Given the description of an element on the screen output the (x, y) to click on. 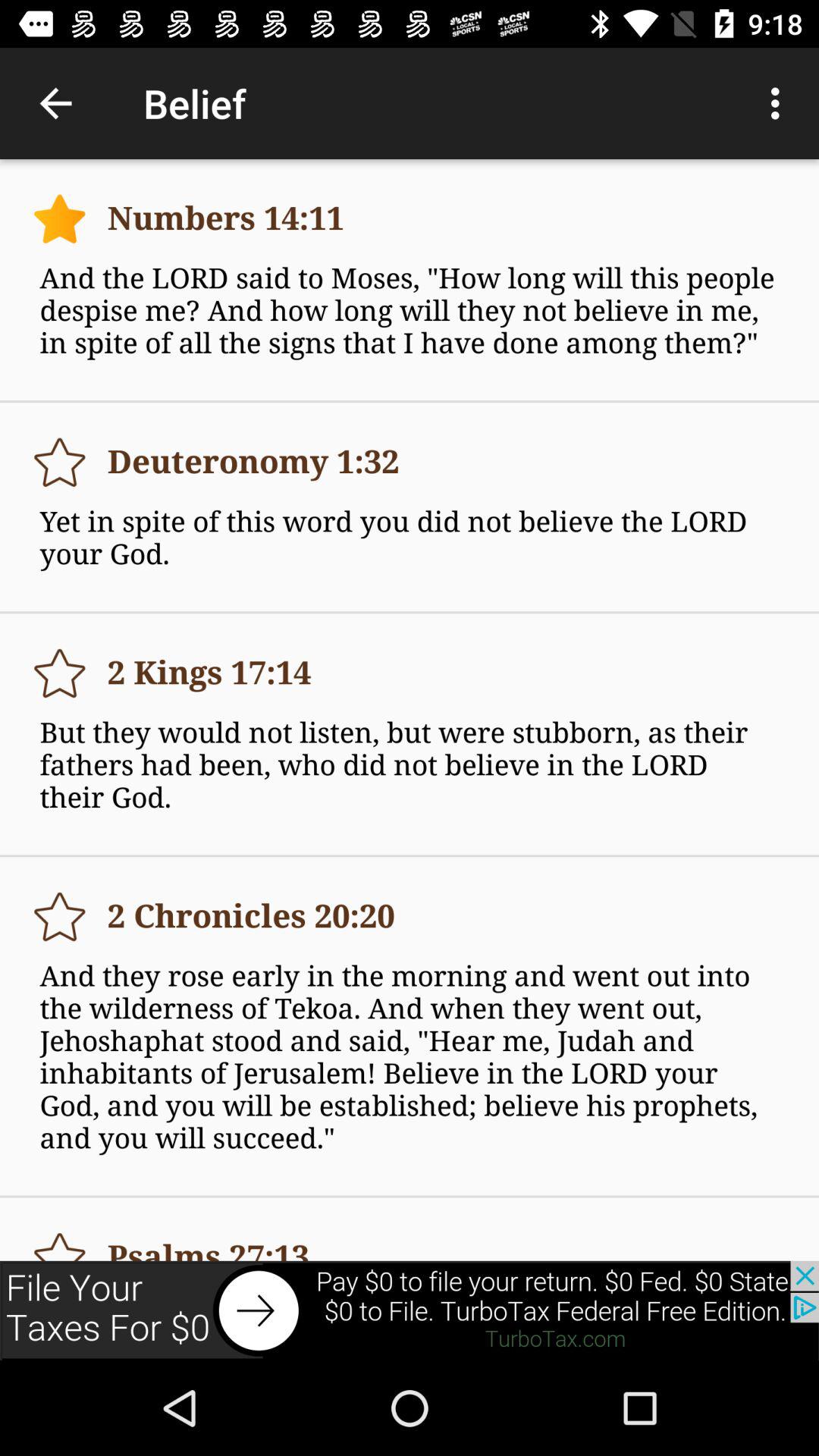
bookmark (59, 218)
